Given the description of an element on the screen output the (x, y) to click on. 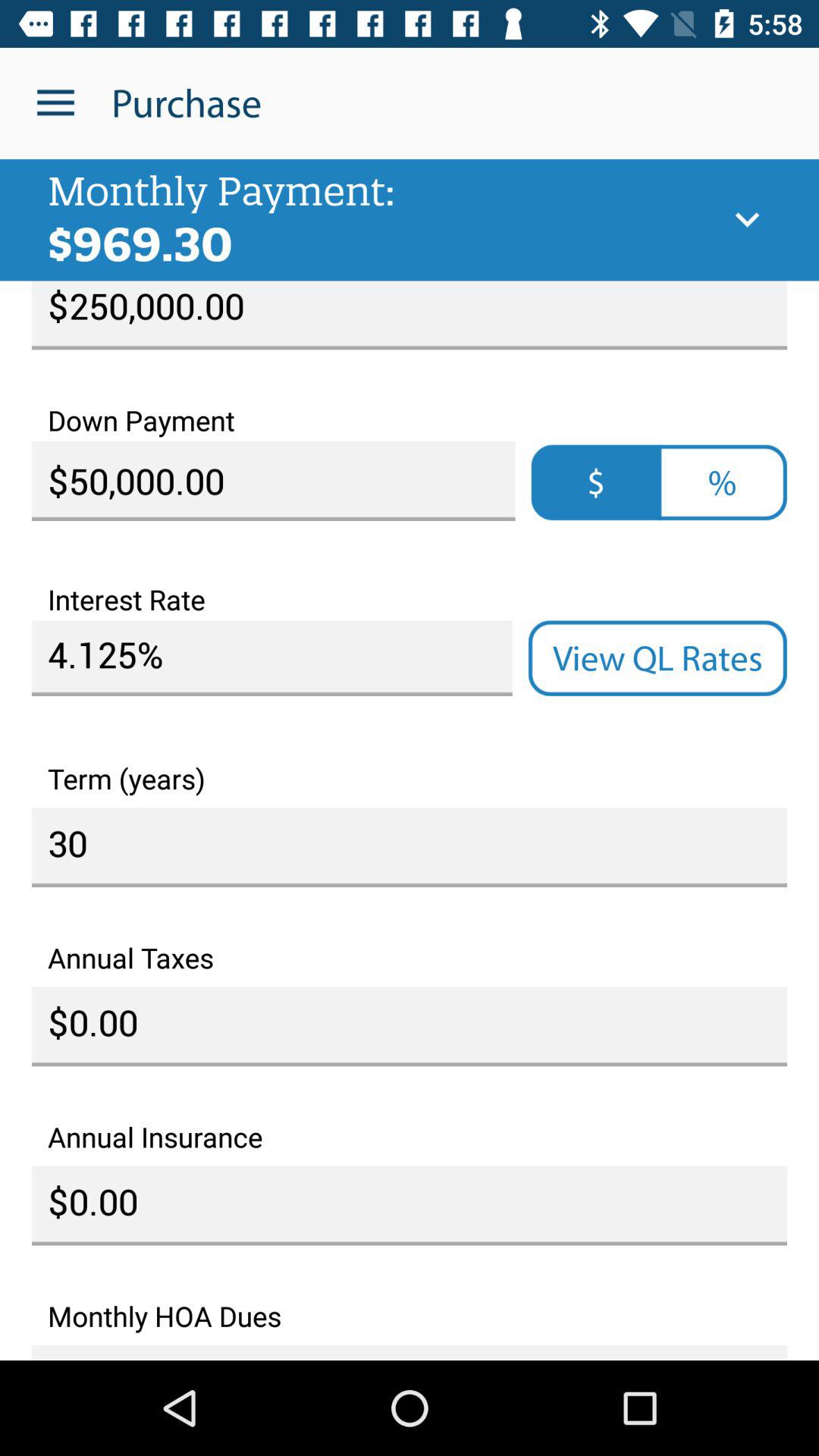
click the icon below the down payment (595, 482)
